Given the description of an element on the screen output the (x, y) to click on. 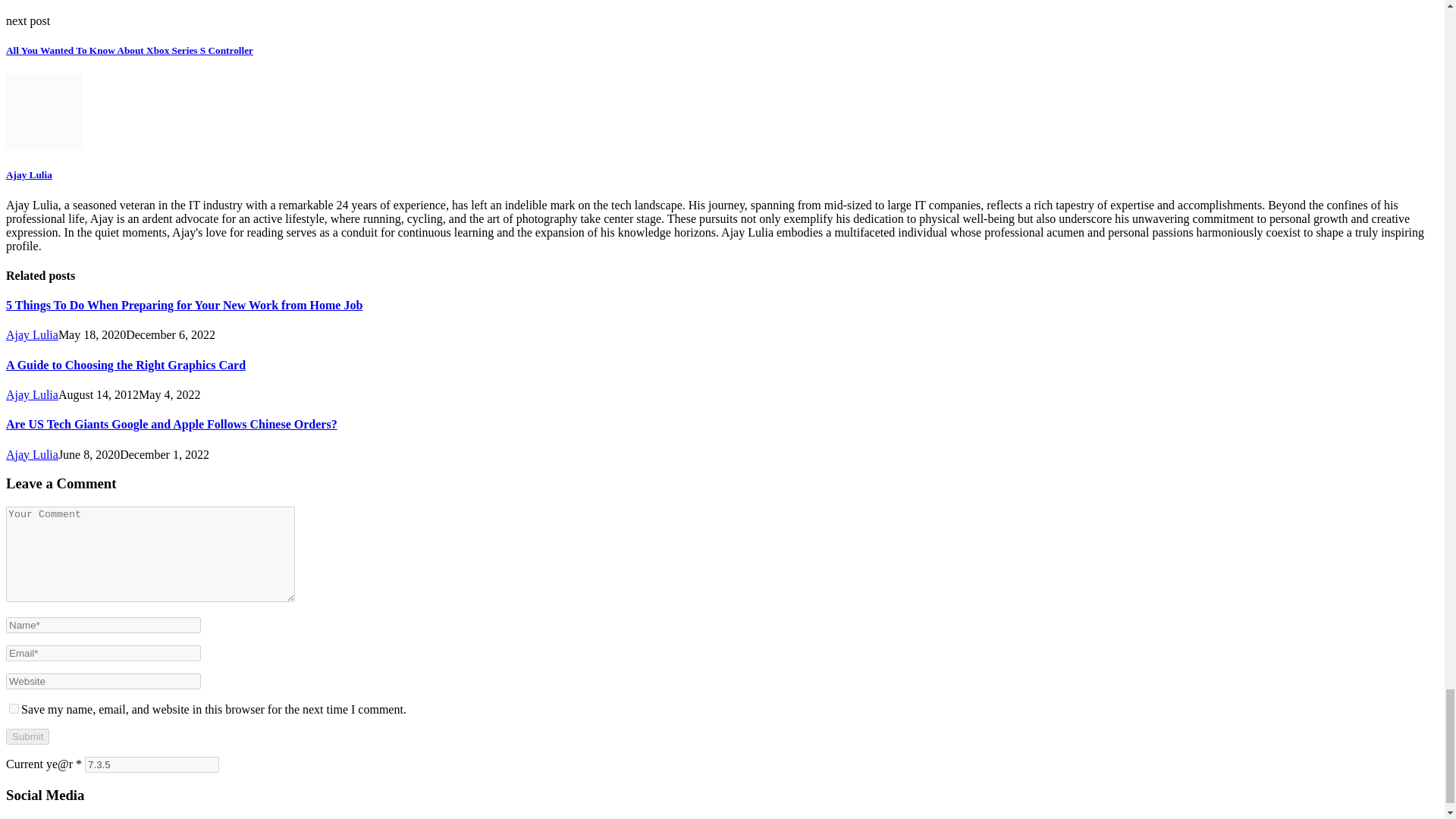
7.3.5 (151, 764)
yes (13, 708)
Submit (27, 736)
